Given the description of an element on the screen output the (x, y) to click on. 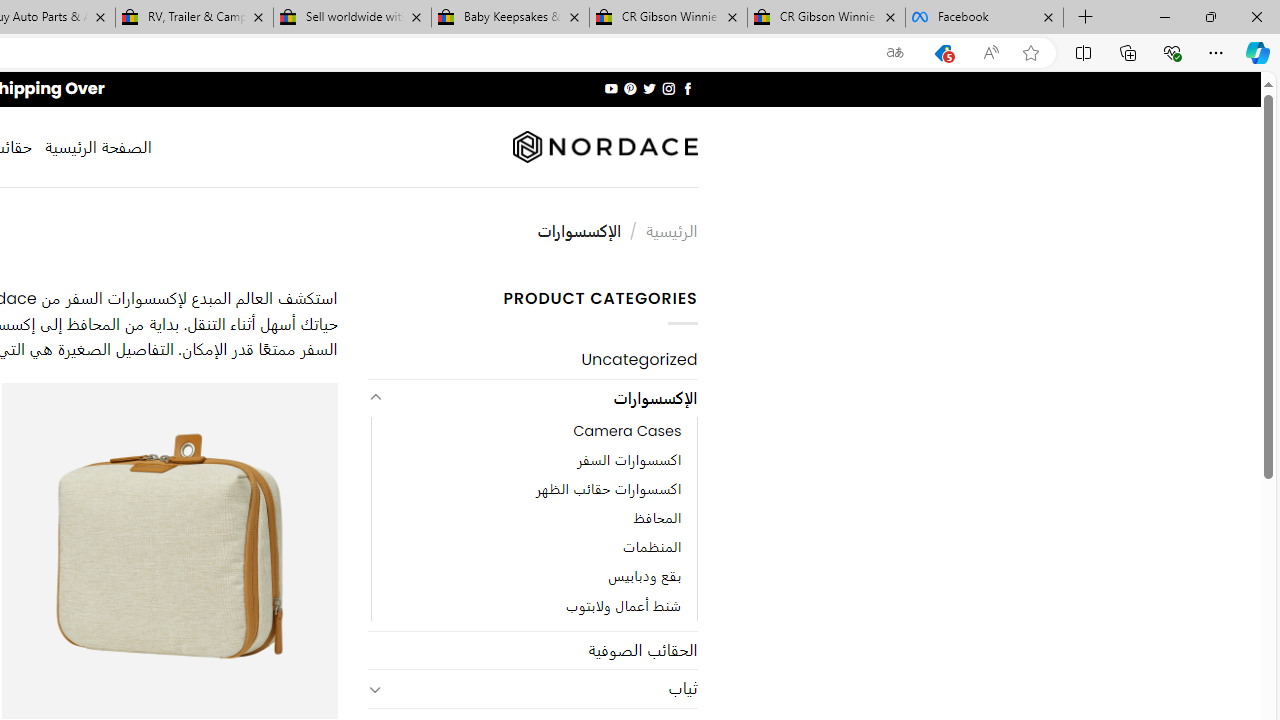
New Tab (1085, 17)
Uncategorized (532, 359)
Sell worldwide with eBay (352, 17)
Copilot (Ctrl+Shift+.) (1258, 52)
